Given the description of an element on the screen output the (x, y) to click on. 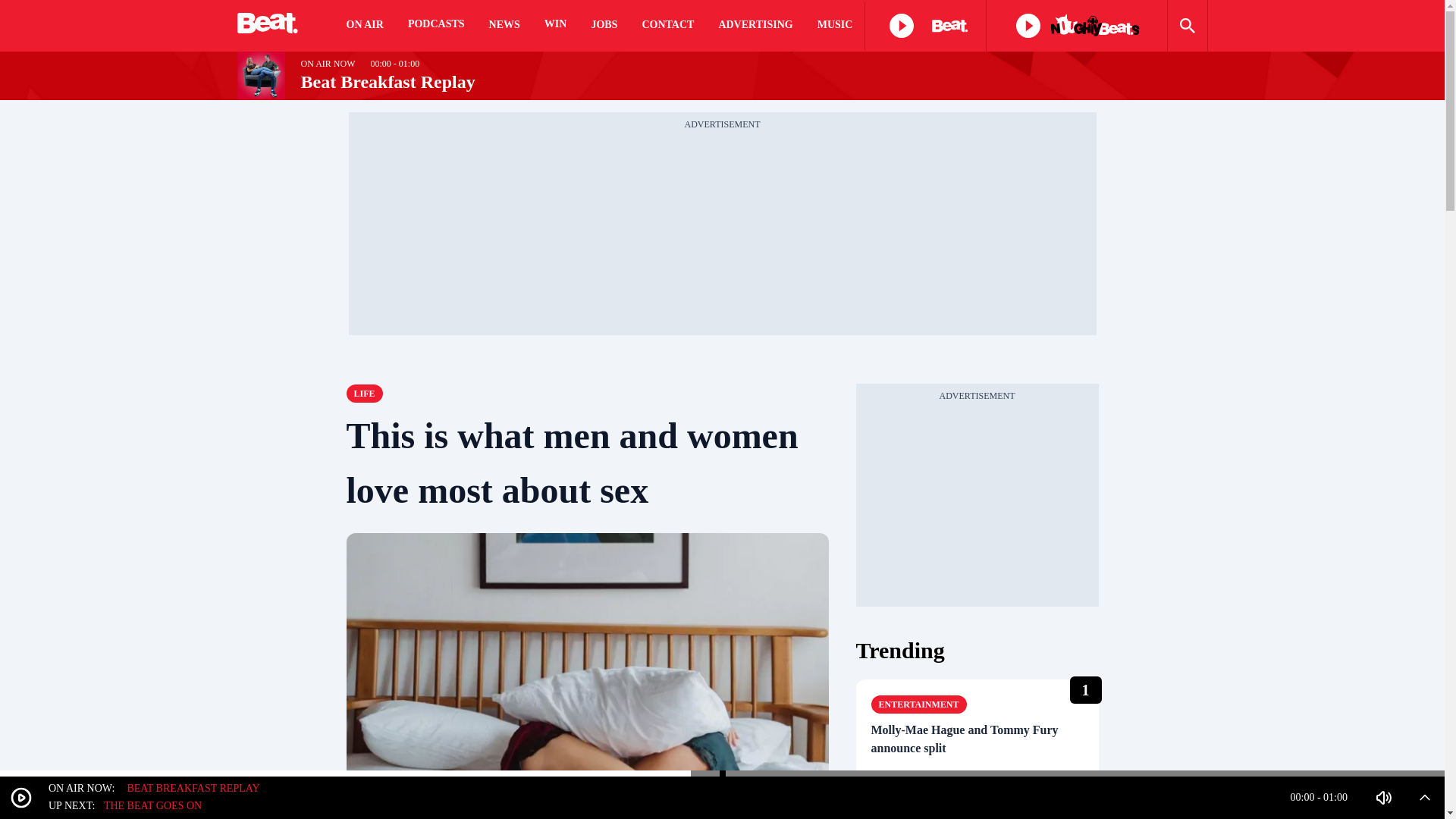
PODCASTS (435, 25)
Life (363, 393)
Molly-Mae Hague and Tommy Fury announce split (976, 739)
Entertainment (918, 704)
